Given the description of an element on the screen output the (x, y) to click on. 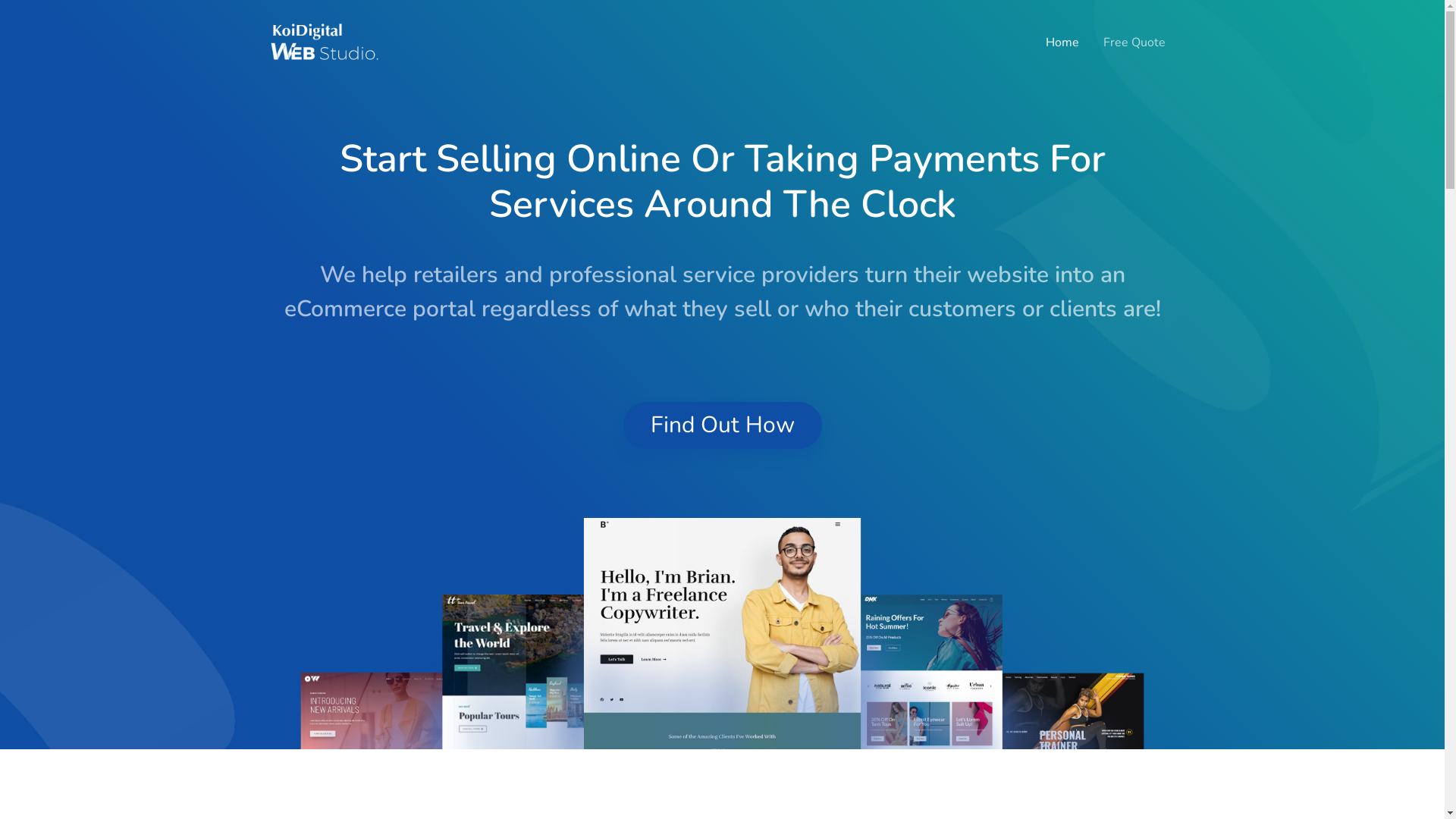
Home Element type: text (1061, 42)
Free Quote Element type: text (1133, 42)
Find Out How Element type: text (722, 424)
